Given the description of an element on the screen output the (x, y) to click on. 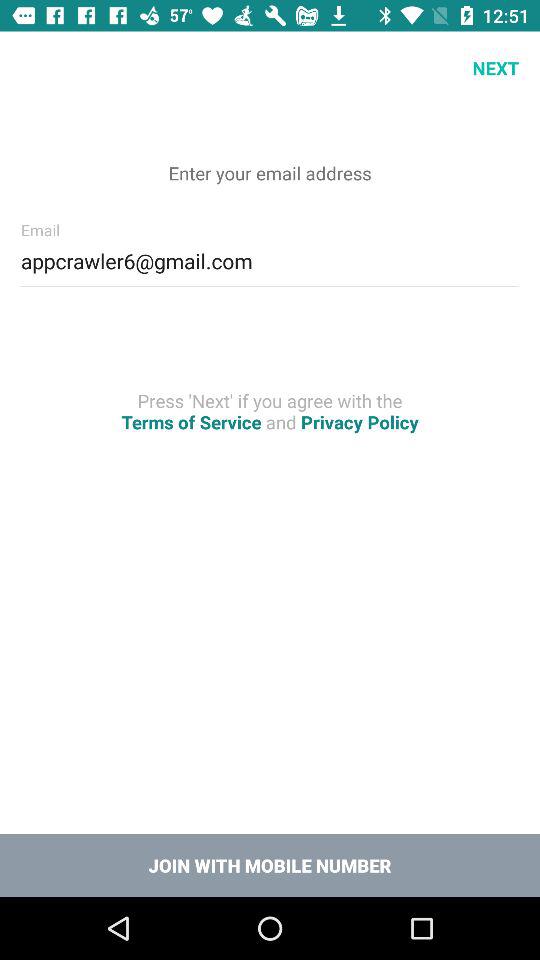
choose the icon above press next if item (270, 258)
